Given the description of an element on the screen output the (x, y) to click on. 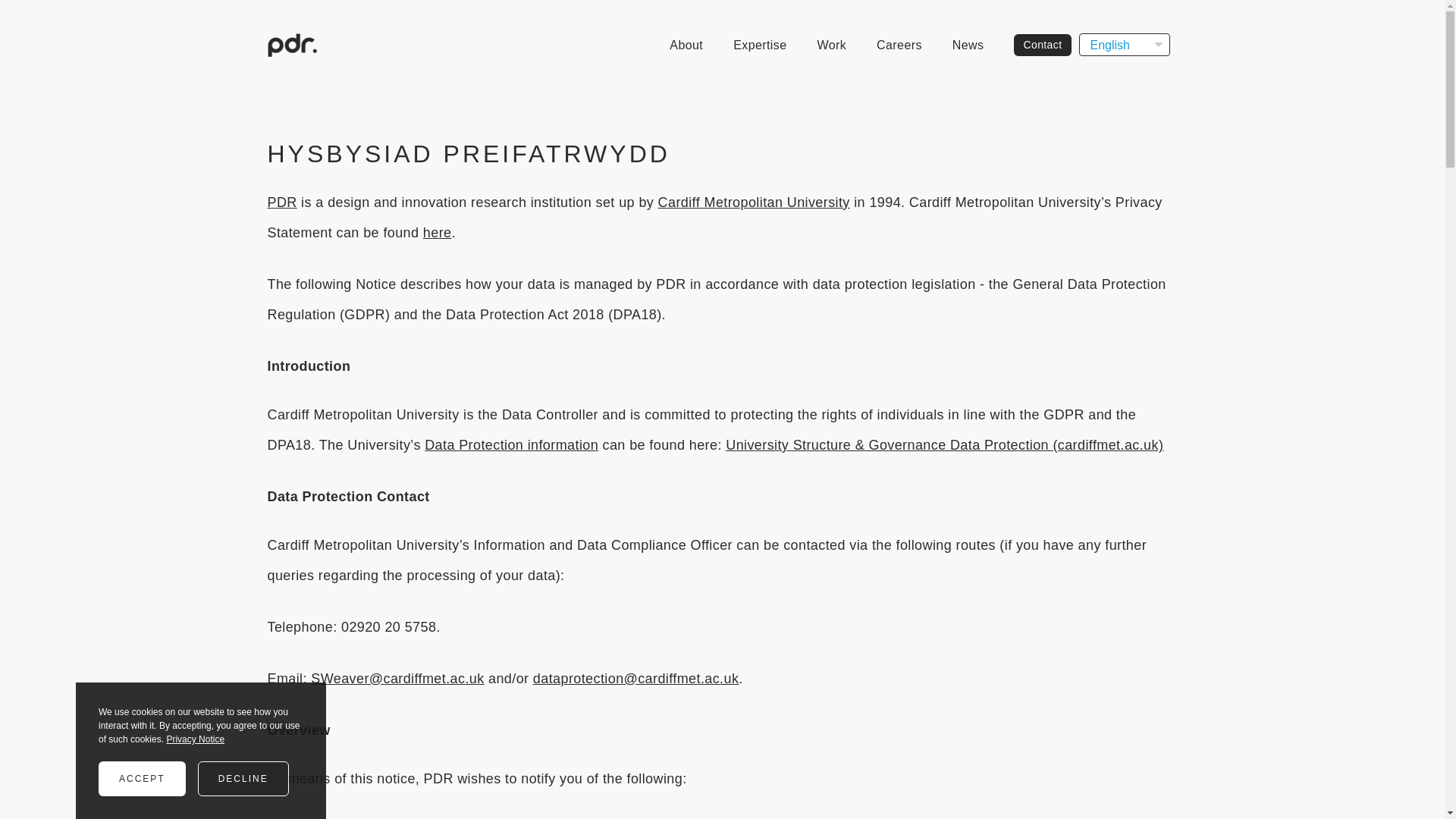
About (686, 43)
PDR (281, 201)
Work (830, 43)
Cardiff Metropolitan University (754, 201)
here (437, 232)
Expertise (759, 43)
Contact (1042, 44)
News (968, 43)
Careers (898, 43)
